Given the description of an element on the screen output the (x, y) to click on. 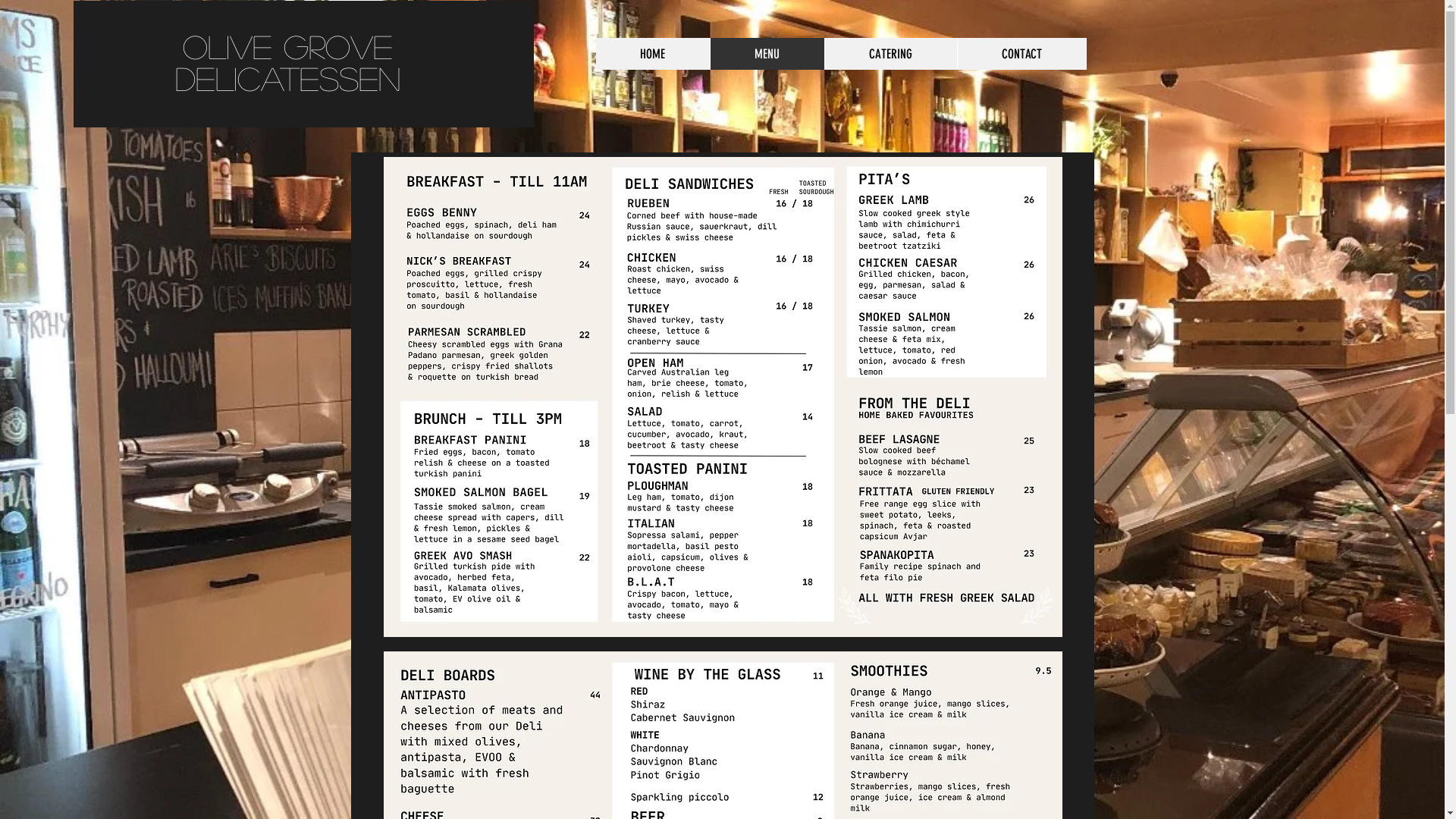
Delicatessen Element type: text (287, 78)
Olive Grove Element type: text (287, 46)
HOME Element type: text (652, 53)
MENU Element type: text (766, 53)
CONTACT Element type: text (1021, 53)
CATERING Element type: text (889, 53)
